Given the description of an element on the screen output the (x, y) to click on. 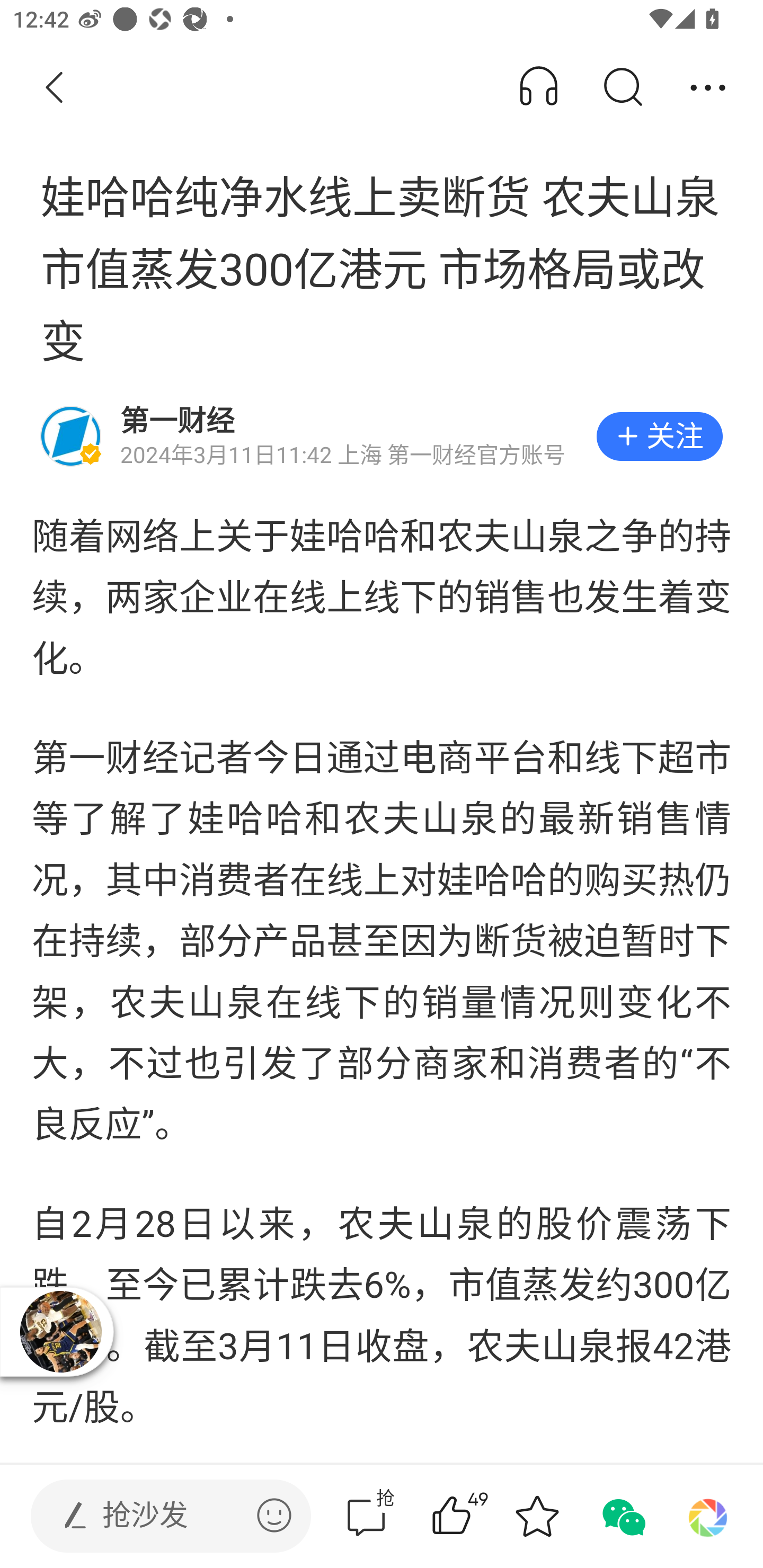
搜索  (622, 87)
分享  (707, 87)
 返回 (54, 87)
第一财经 2024年3月11日11:42 上海 第一财经官方账号  关注 (381, 436)
 关注 (659, 436)
播放器 (60, 1331)
发表评论  抢沙发 发表评论  (155, 1516)
抢评论  抢 评论 (365, 1516)
49赞 (476, 1516)
收藏  (536, 1516)
分享到微信  (622, 1516)
分享到朋友圈 (707, 1516)
 (274, 1515)
